Given the description of an element on the screen output the (x, y) to click on. 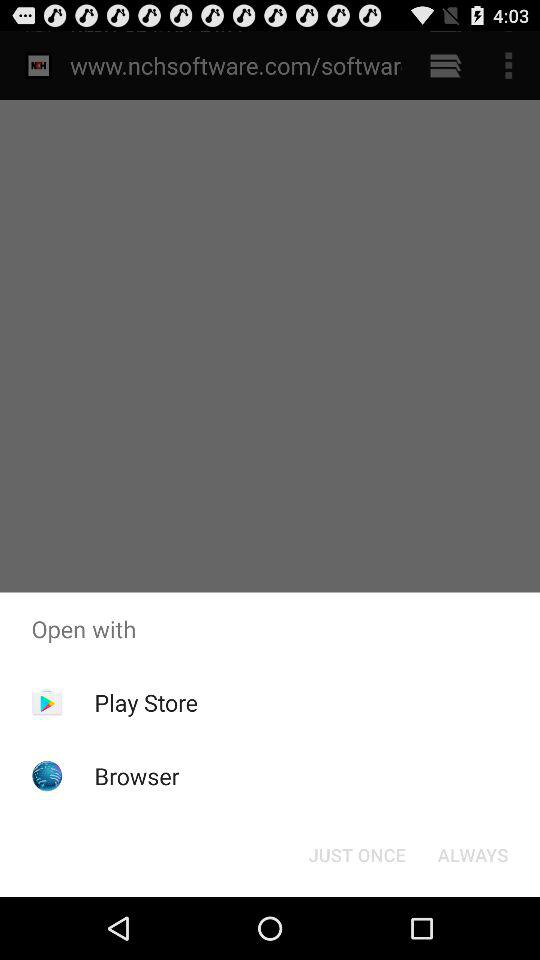
swipe until always icon (472, 854)
